Given the description of an element on the screen output the (x, y) to click on. 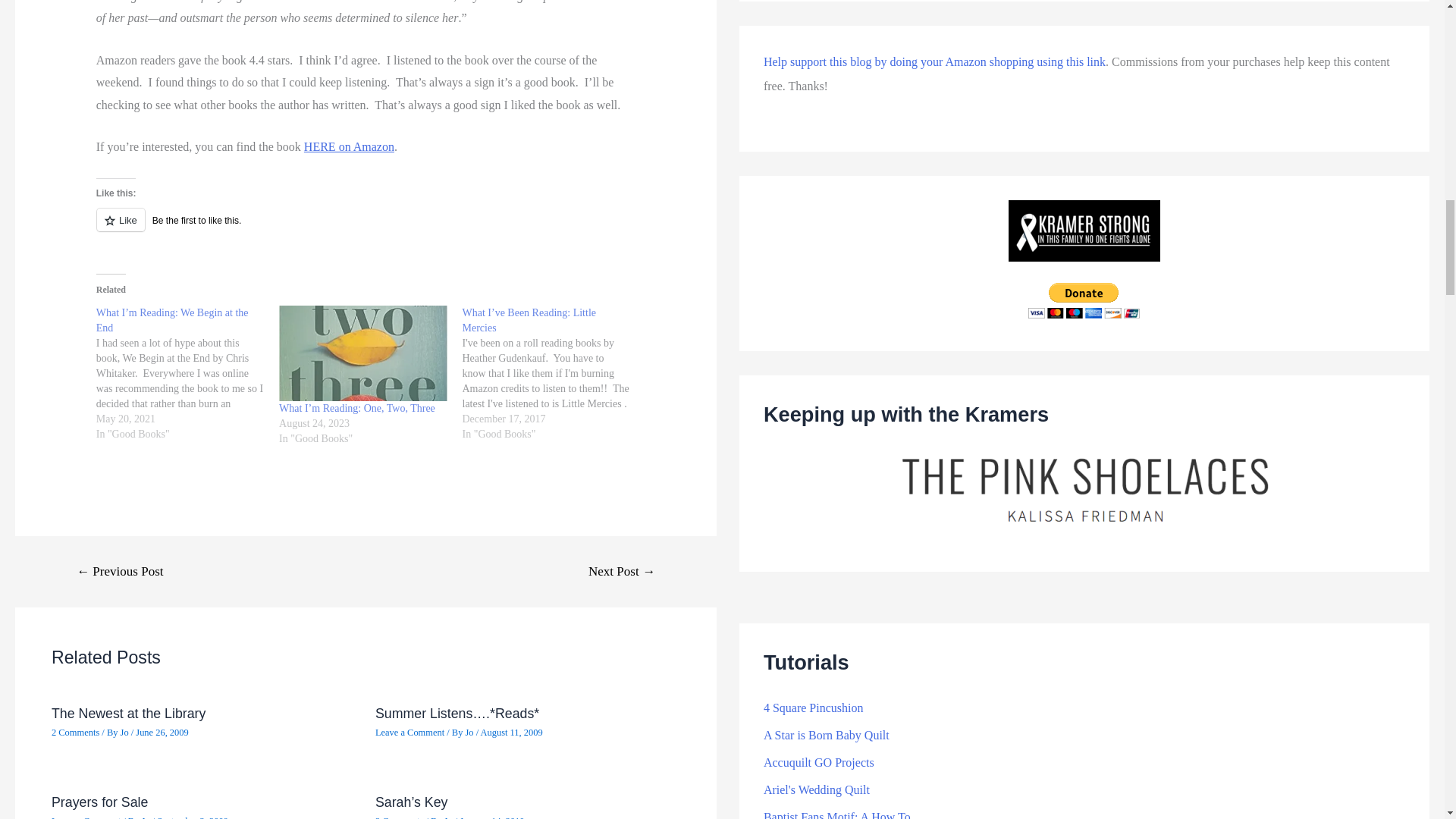
View all posts by Jo (125, 732)
View all posts by Jo (146, 817)
View all posts by Jo (449, 817)
Like or Reblog (366, 228)
View all posts by Jo (470, 732)
